Given the description of an element on the screen output the (x, y) to click on. 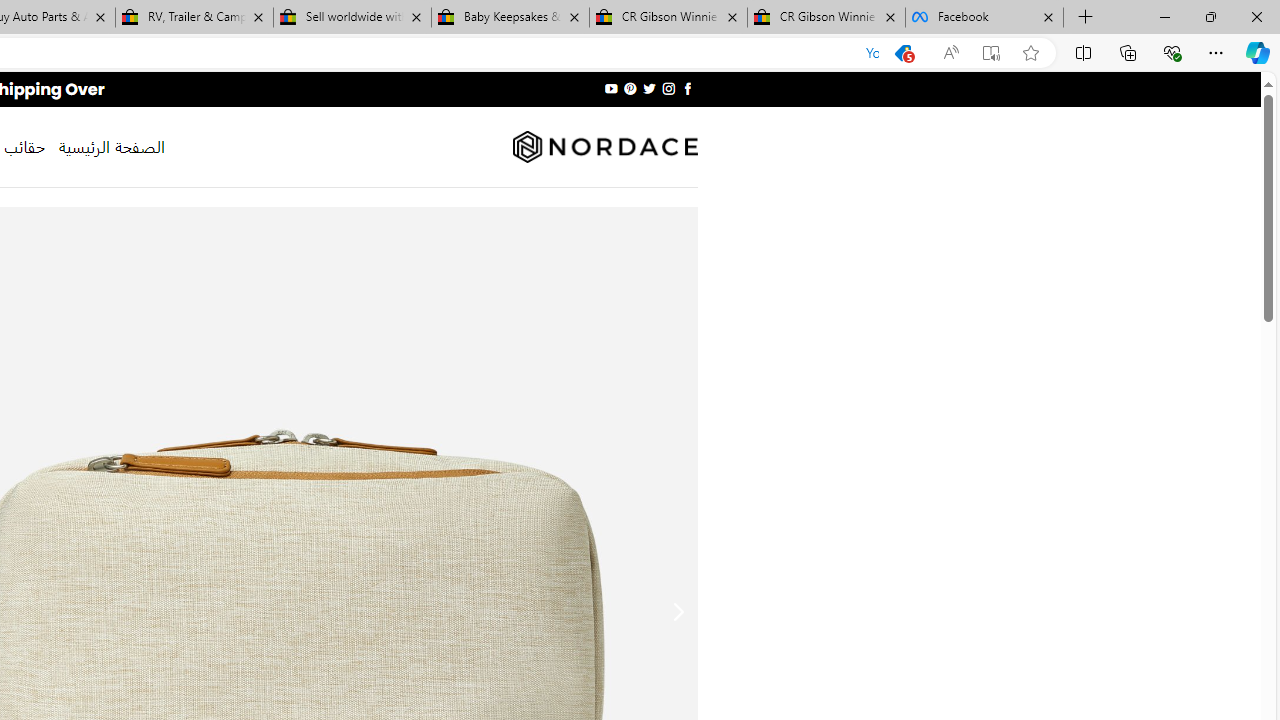
Sell worldwide with eBay (352, 17)
Enter Immersive Reader (F9) (991, 53)
Follow on Twitter (648, 88)
Follow on YouTube (611, 88)
Baby Keepsakes & Announcements for sale | eBay (509, 17)
